Given the description of an element on the screen output the (x, y) to click on. 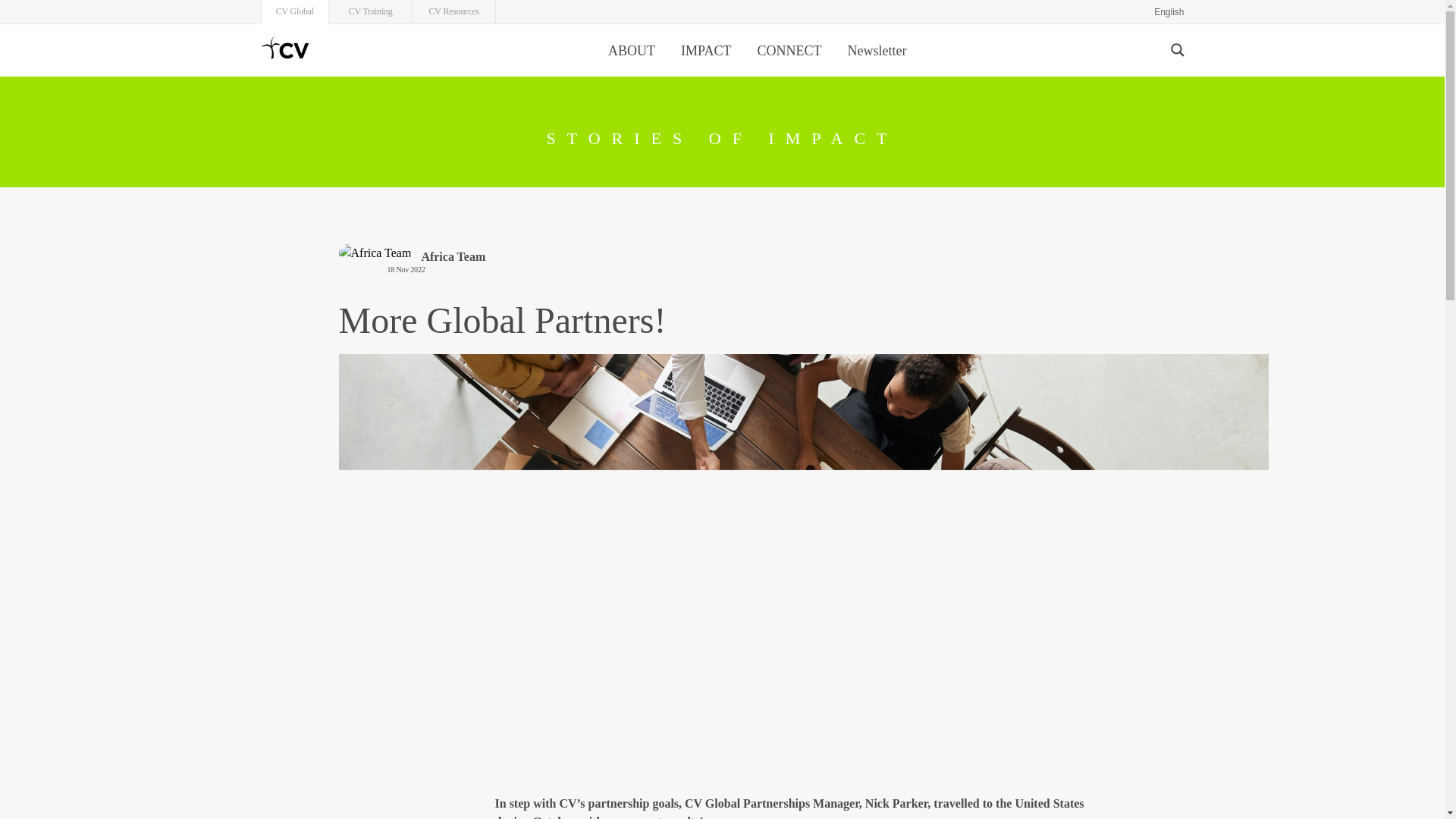
CV Resources (454, 7)
IMPACT (706, 51)
Newsletter (877, 51)
ABOUT (632, 51)
CV Training (370, 7)
English (1168, 12)
CONNECT (789, 51)
CV Global (294, 7)
